Given the description of an element on the screen output the (x, y) to click on. 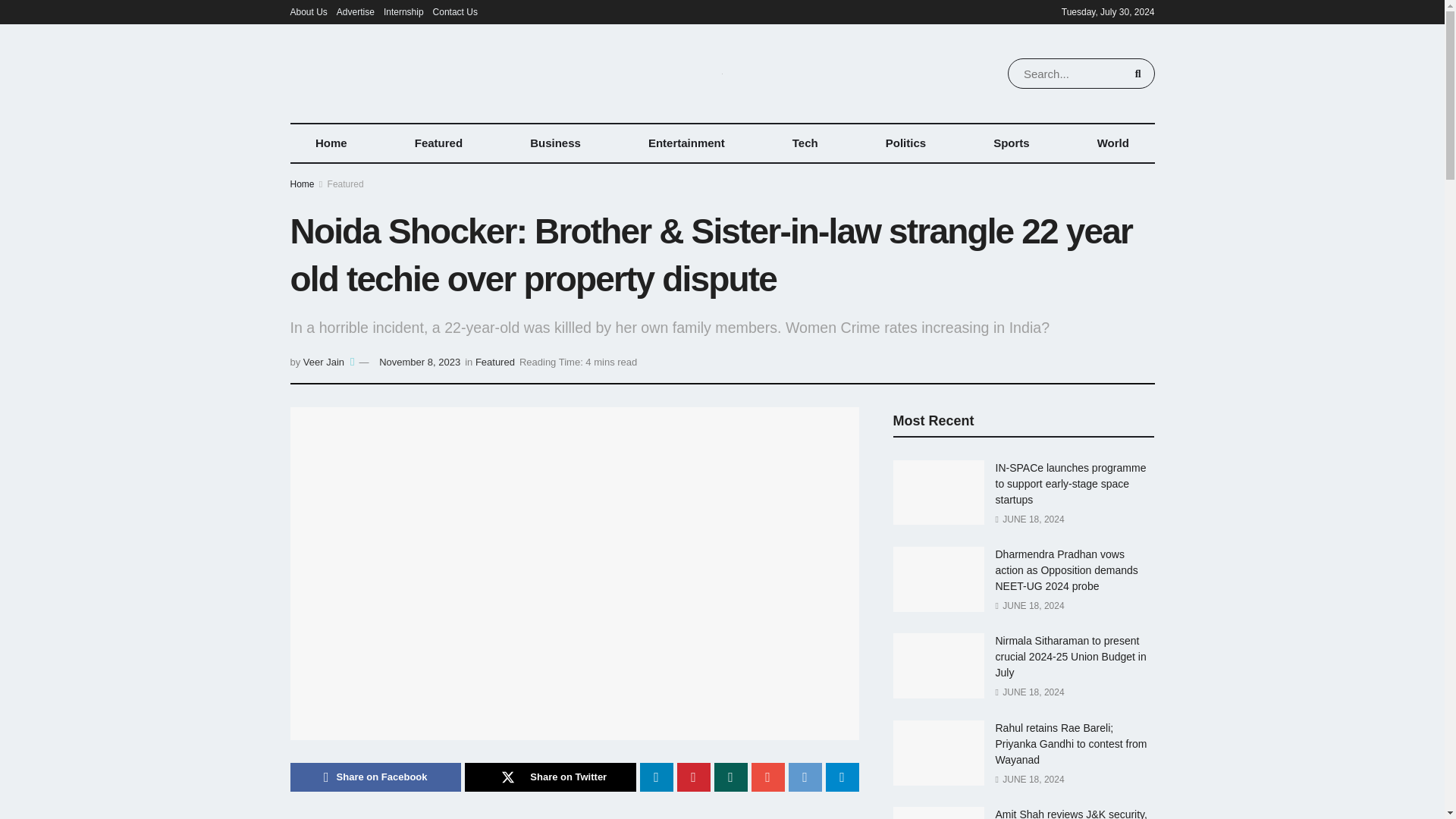
Featured (437, 143)
Featured (345, 184)
Home (301, 184)
World (1112, 143)
Advertise (355, 12)
Internship (403, 12)
Business (556, 143)
Contact Us (454, 12)
Home (330, 143)
Sports (1011, 143)
Veer Jain (322, 361)
About Us (307, 12)
Tech (805, 143)
Entertainment (686, 143)
Politics (905, 143)
